Given the description of an element on the screen output the (x, y) to click on. 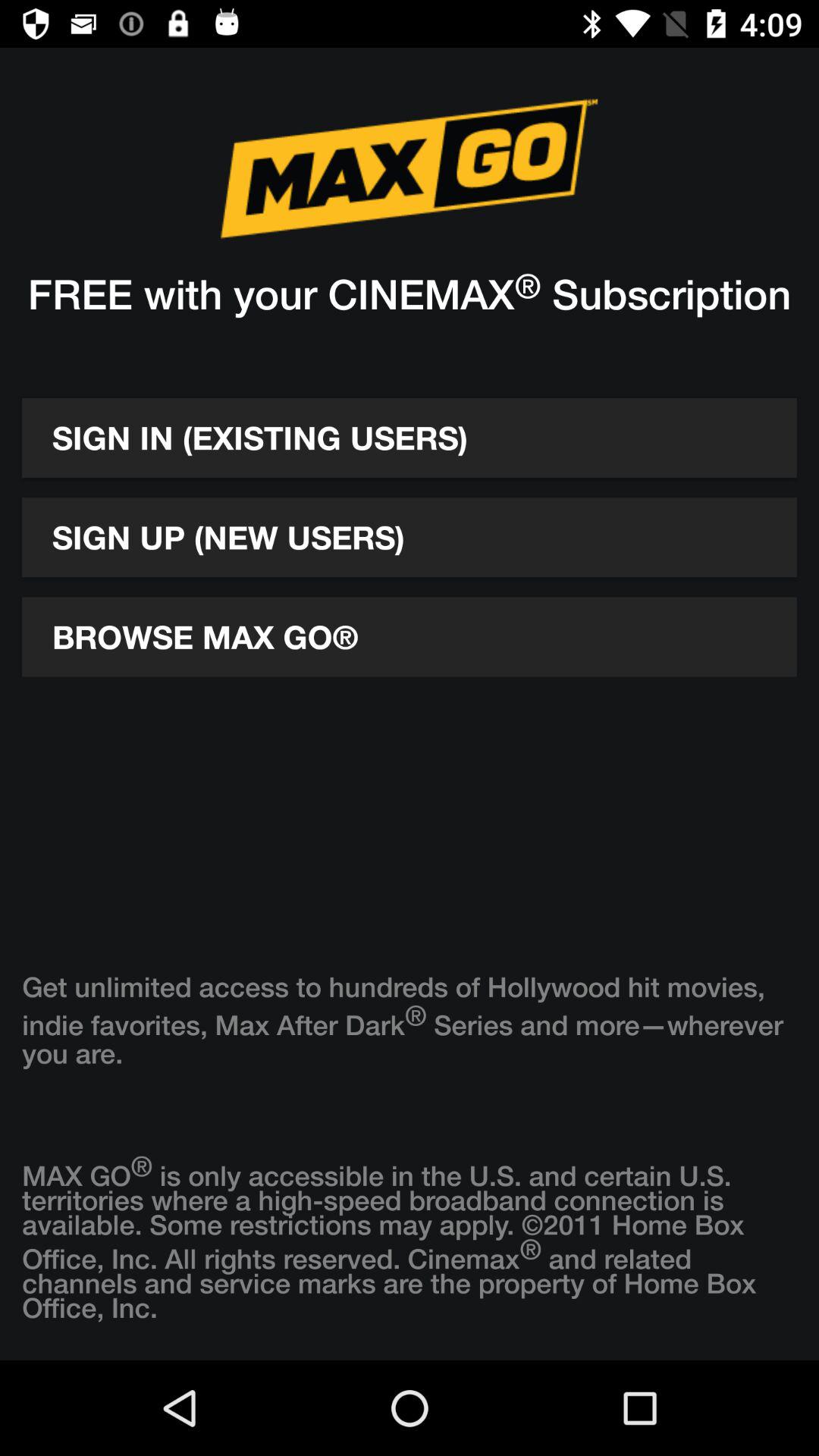
scroll to sign up new item (409, 537)
